Given the description of an element on the screen output the (x, y) to click on. 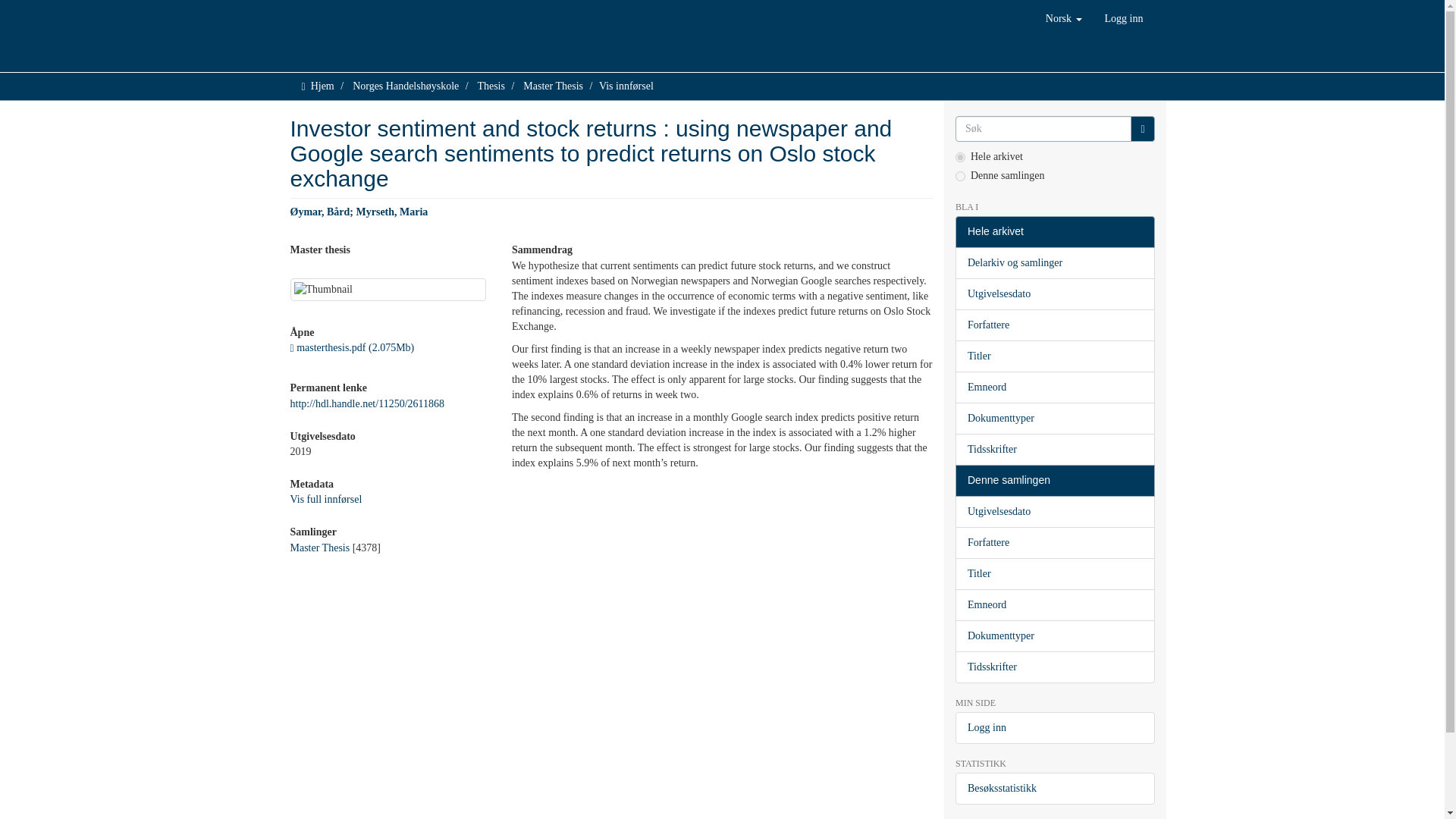
Titler (1054, 356)
Hjem (322, 85)
Norsk  (1063, 18)
Master Thesis (552, 85)
Utgivelsesdato (1054, 294)
Logg inn (1123, 18)
Thesis (491, 85)
Forfattere (1054, 325)
Master Thesis (319, 547)
Myrseth, Maria (392, 211)
